Given the description of an element on the screen output the (x, y) to click on. 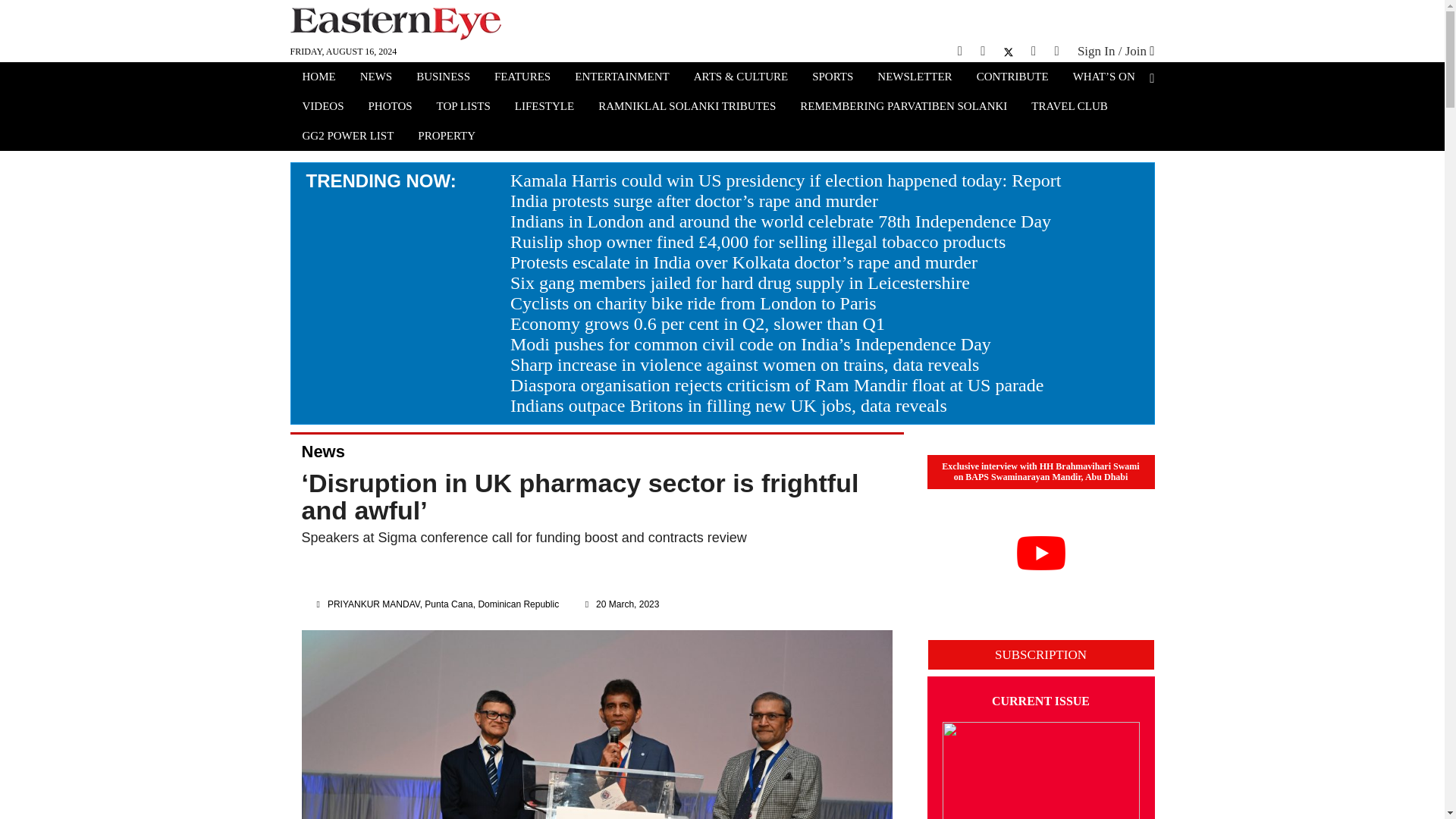
Economy grows 0.6 per cent in Q2, slower than Q1 (698, 323)
LIFESTYLE (543, 108)
NEWS (375, 78)
Cyclists on charity bike ride from London to Paris (693, 302)
BUSINESS (443, 78)
PROPERTY (446, 137)
RAMNIKLAL SOLANKI TRIBUTES (686, 108)
NEWSLETTER (914, 78)
PHOTOS (390, 108)
TRAVEL CLUB (1069, 108)
